Given the description of an element on the screen output the (x, y) to click on. 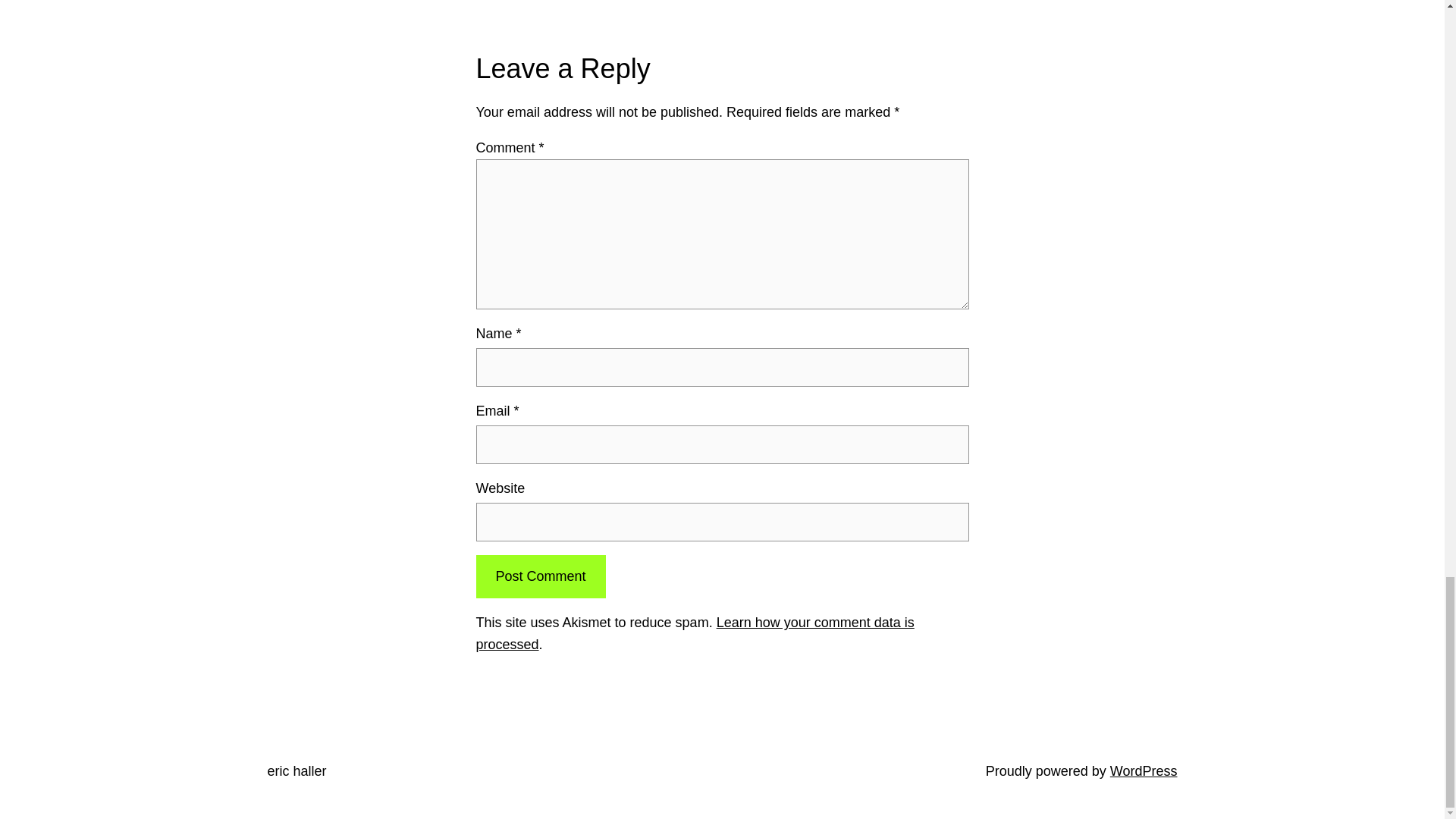
eric haller (296, 770)
Post Comment (540, 576)
Learn how your comment data is processed (695, 633)
Post Comment (540, 576)
WordPress (1143, 770)
